Given the description of an element on the screen output the (x, y) to click on. 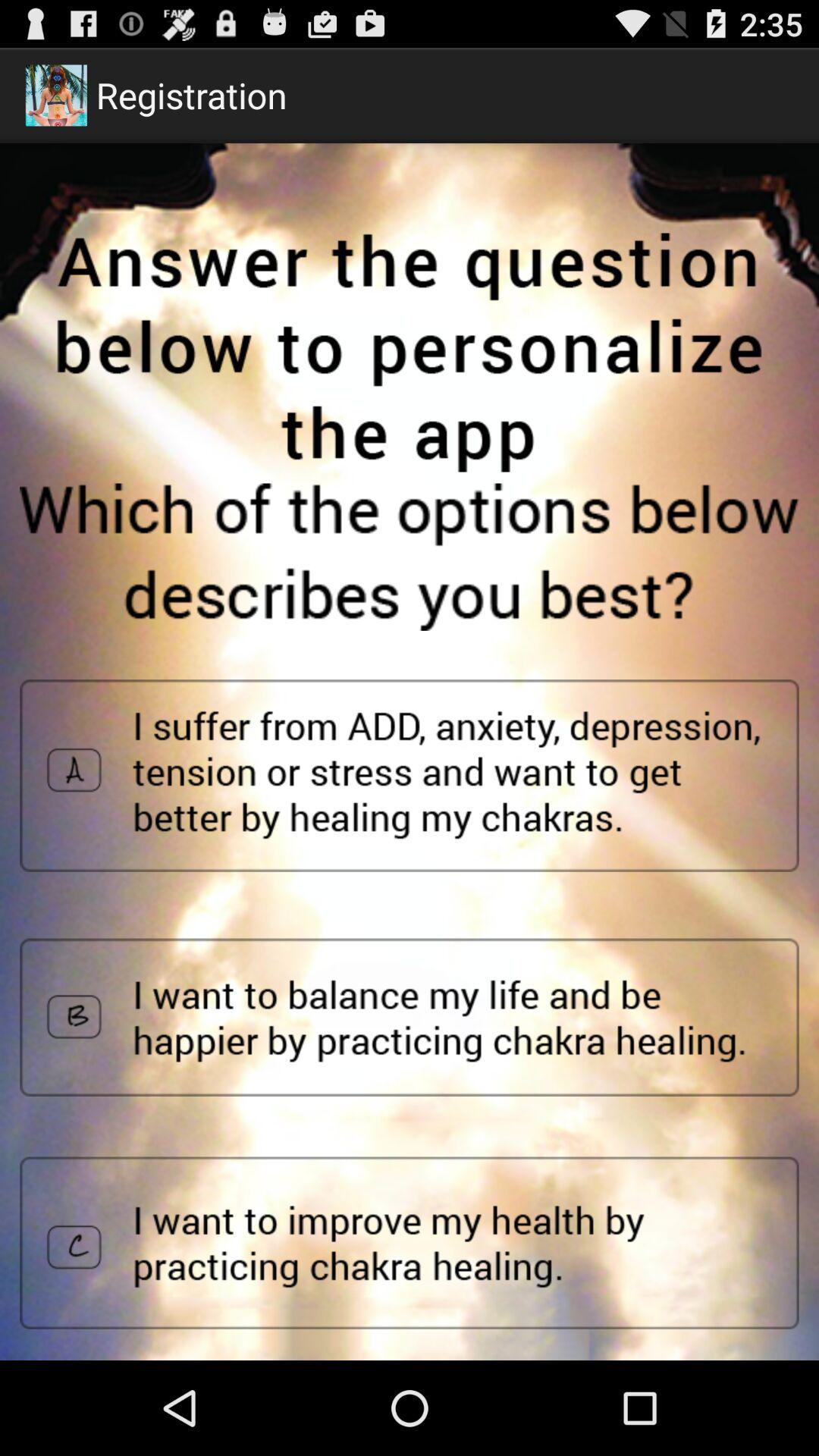
answer selection (409, 1242)
